Given the description of an element on the screen output the (x, y) to click on. 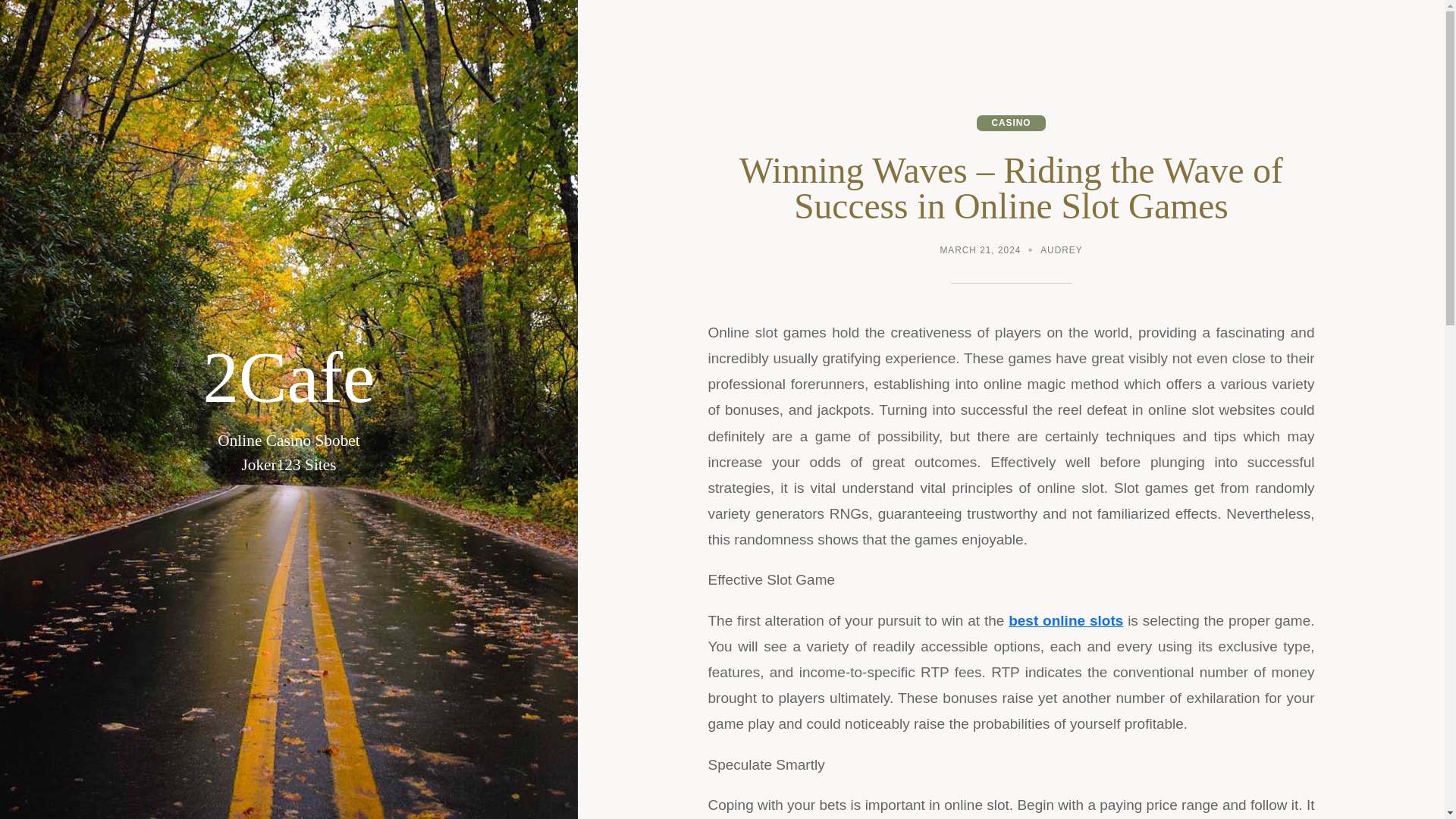
best online slots (1065, 620)
MARCH 21, 2024 (979, 251)
AUDREY (1061, 251)
2Cafe (288, 378)
CASINO (1010, 123)
